Given the description of an element on the screen output the (x, y) to click on. 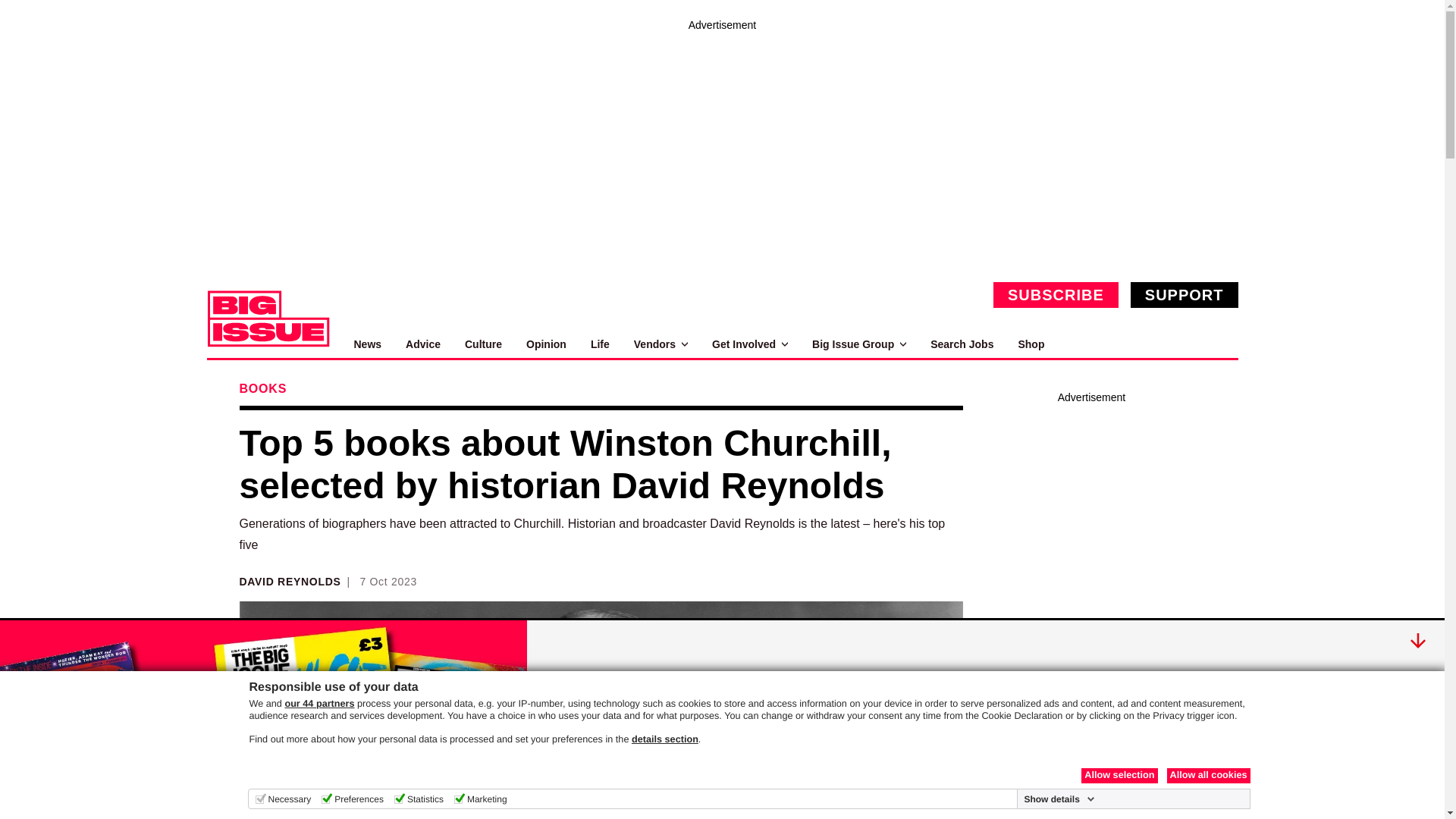
Show details (1058, 799)
details section (664, 738)
Allow all cookies (1207, 775)
our 44 partners (318, 703)
Allow selection (1119, 775)
